Given the description of an element on the screen output the (x, y) to click on. 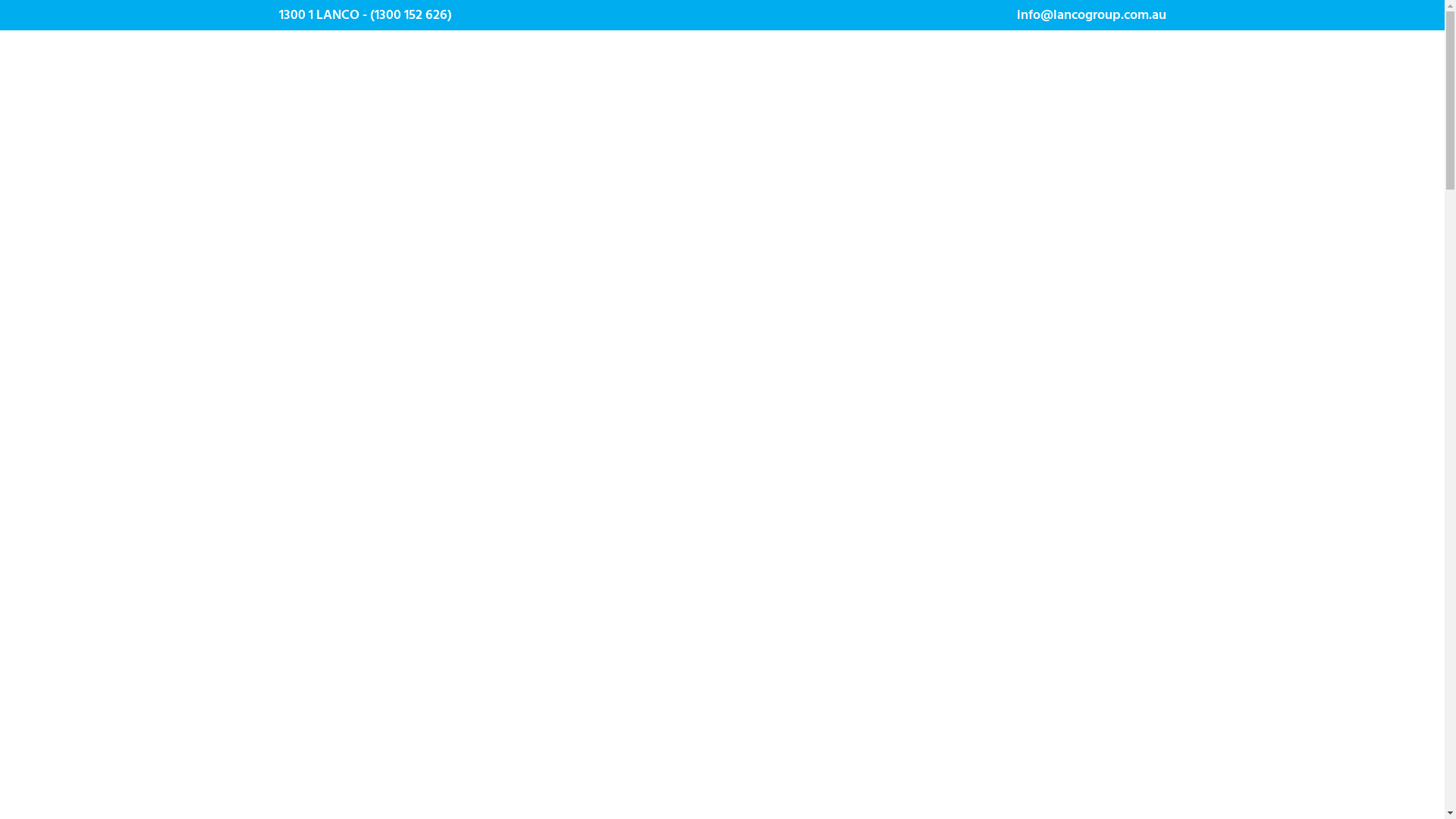
1300 1 LANCO - (1300 152 626) Element type: text (365, 15)
info@lancogroup.com.au Element type: text (1090, 15)
